Given the description of an element on the screen output the (x, y) to click on. 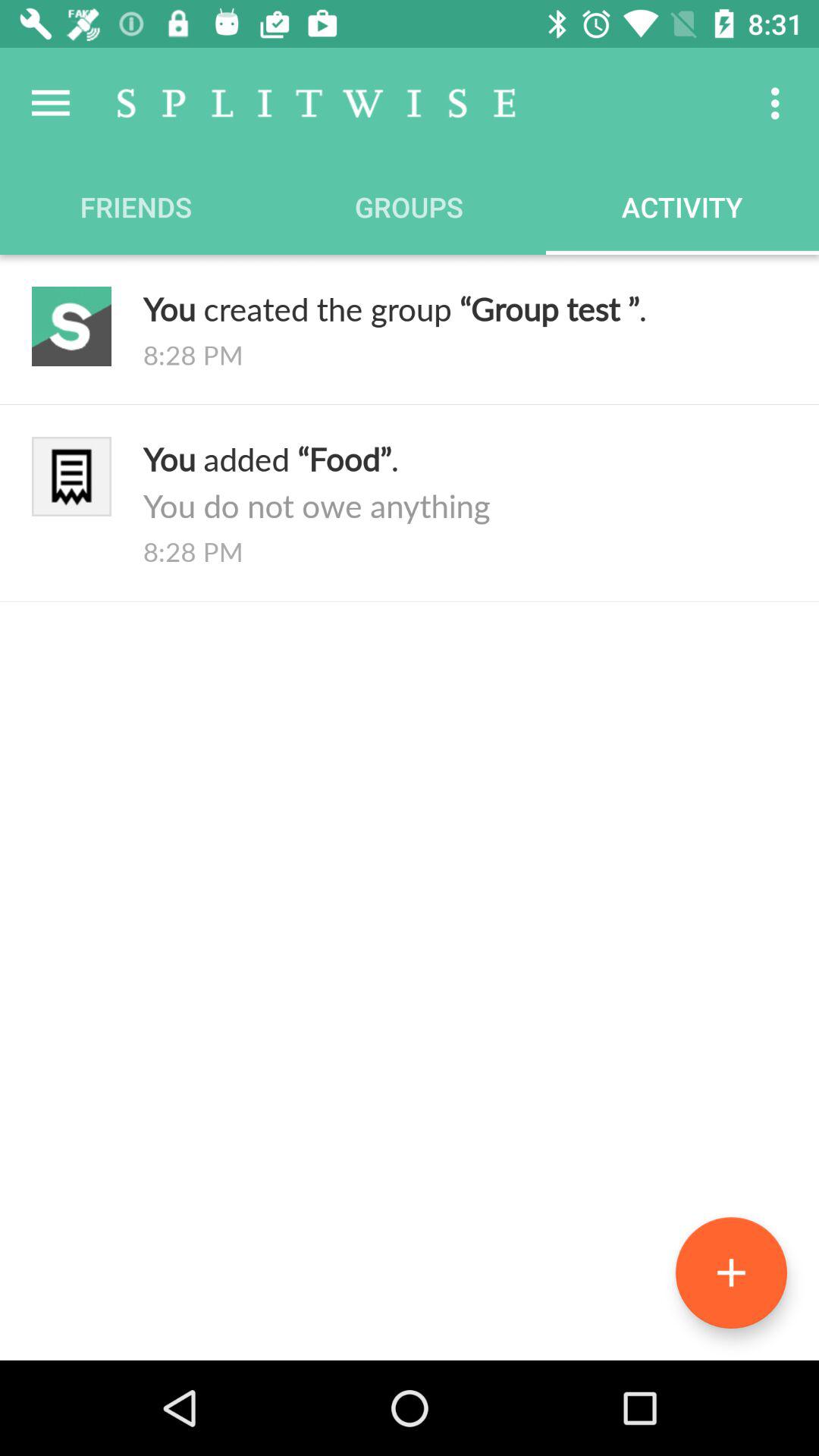
turn off the you added food (465, 481)
